Given the description of an element on the screen output the (x, y) to click on. 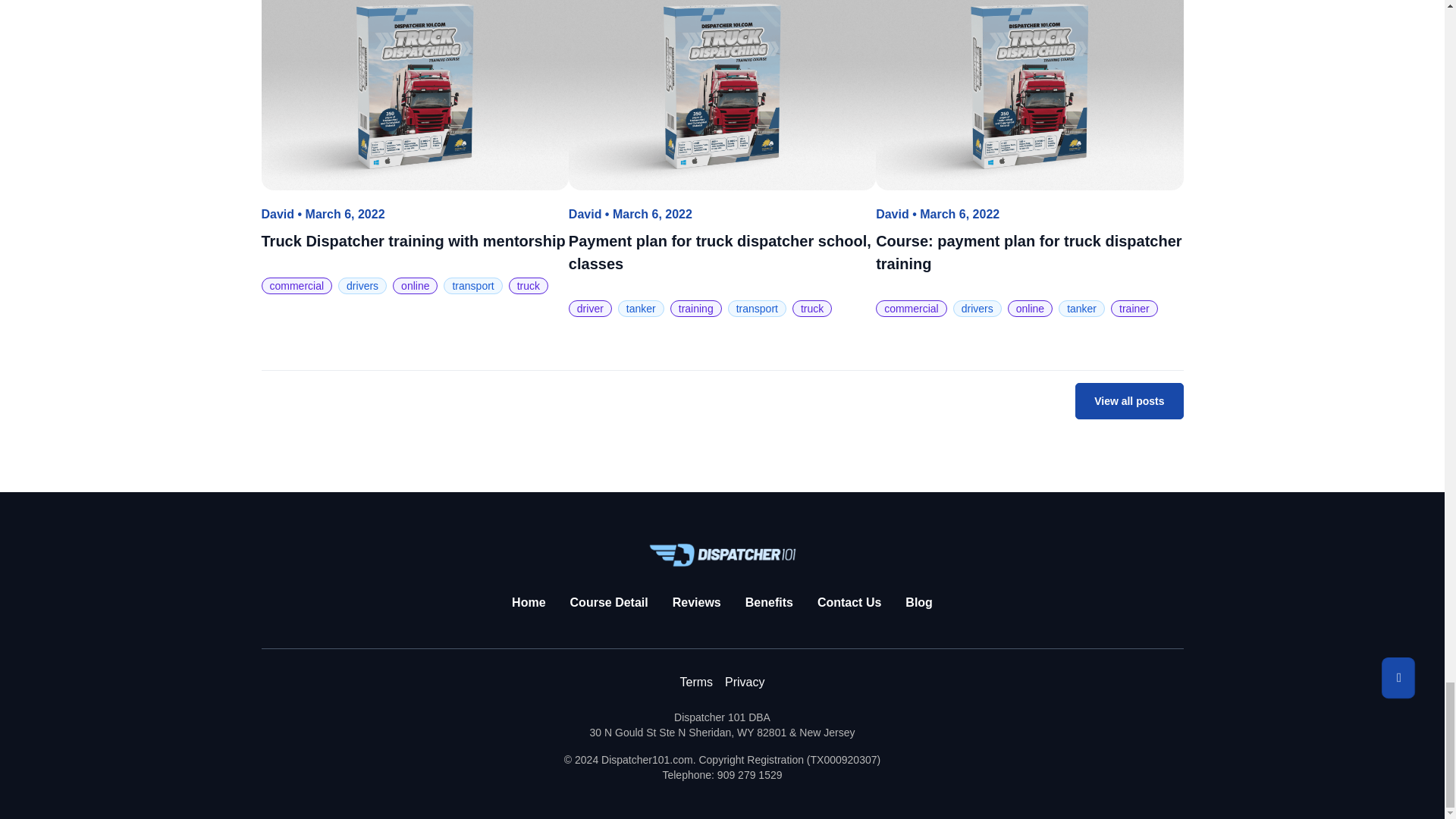
5852abbff89b8f98a02ec2f200054d73 (722, 95)
5852abbff89b8f98a02ec2f200054d73 (1029, 95)
5852abbff89b8f98a02ec2f200054d73 (413, 95)
